Given the description of an element on the screen output the (x, y) to click on. 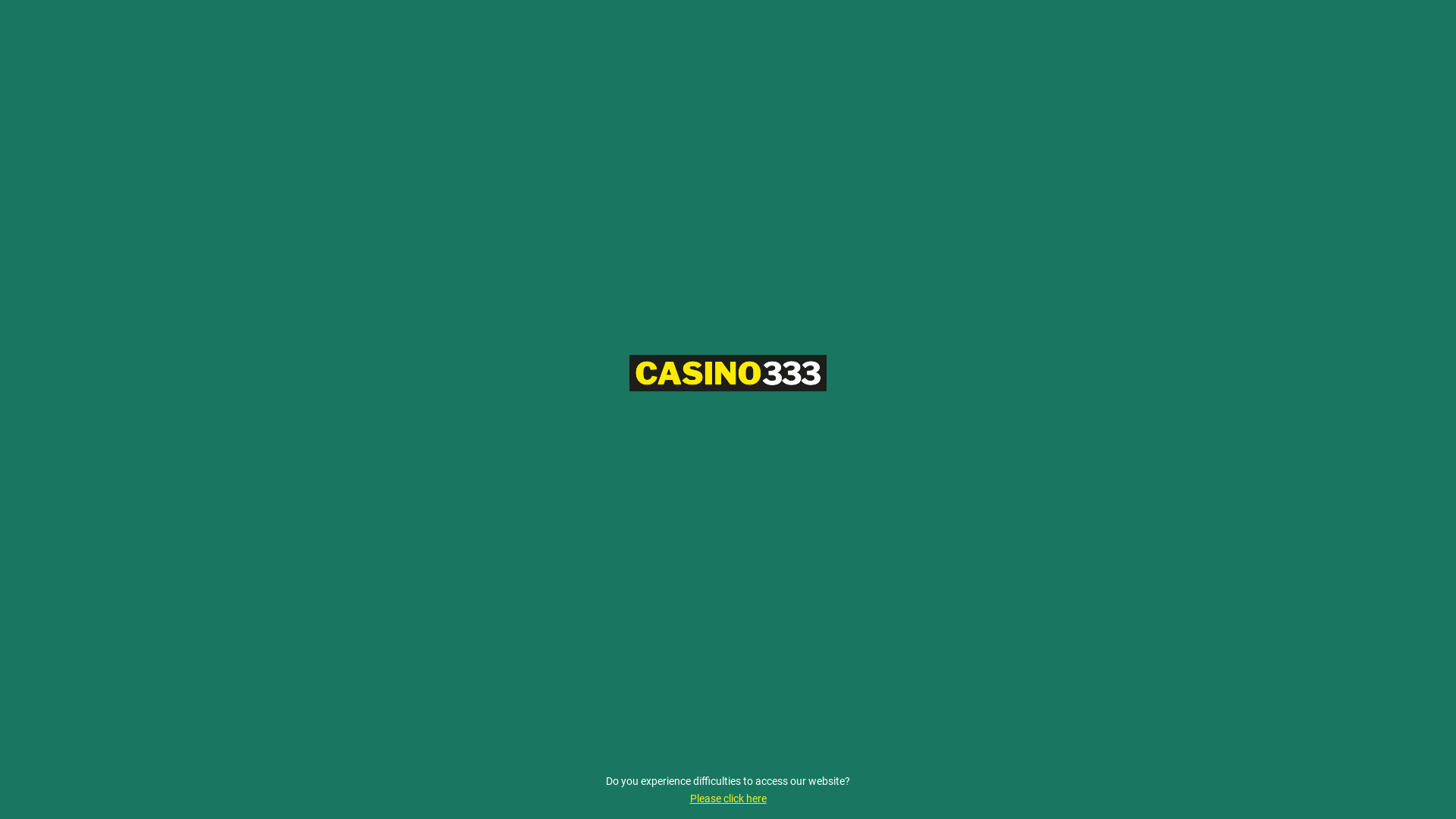
Please click here Element type: text (728, 798)
